Given the description of an element on the screen output the (x, y) to click on. 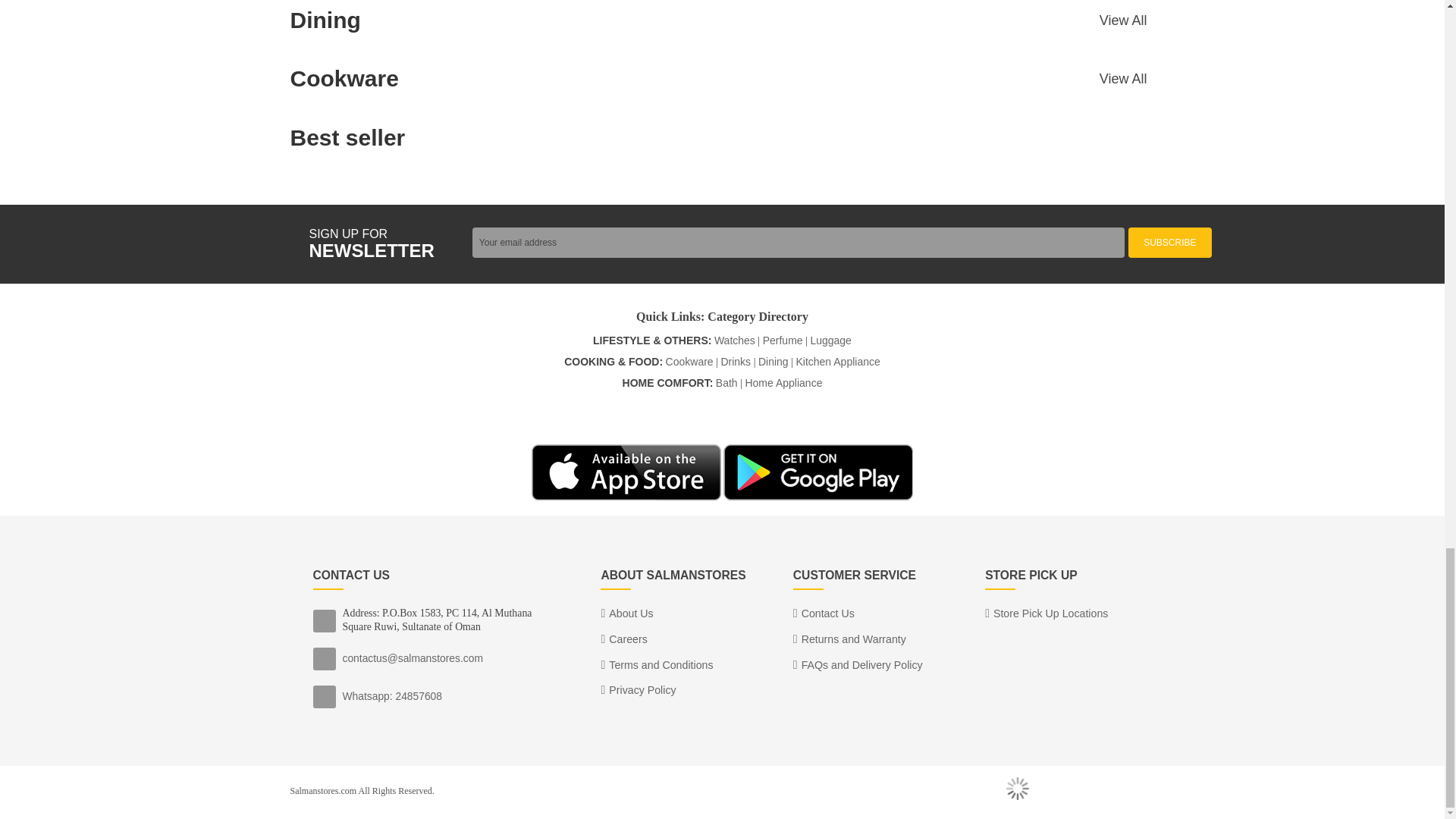
Your email address (797, 242)
